Given the description of an element on the screen output the (x, y) to click on. 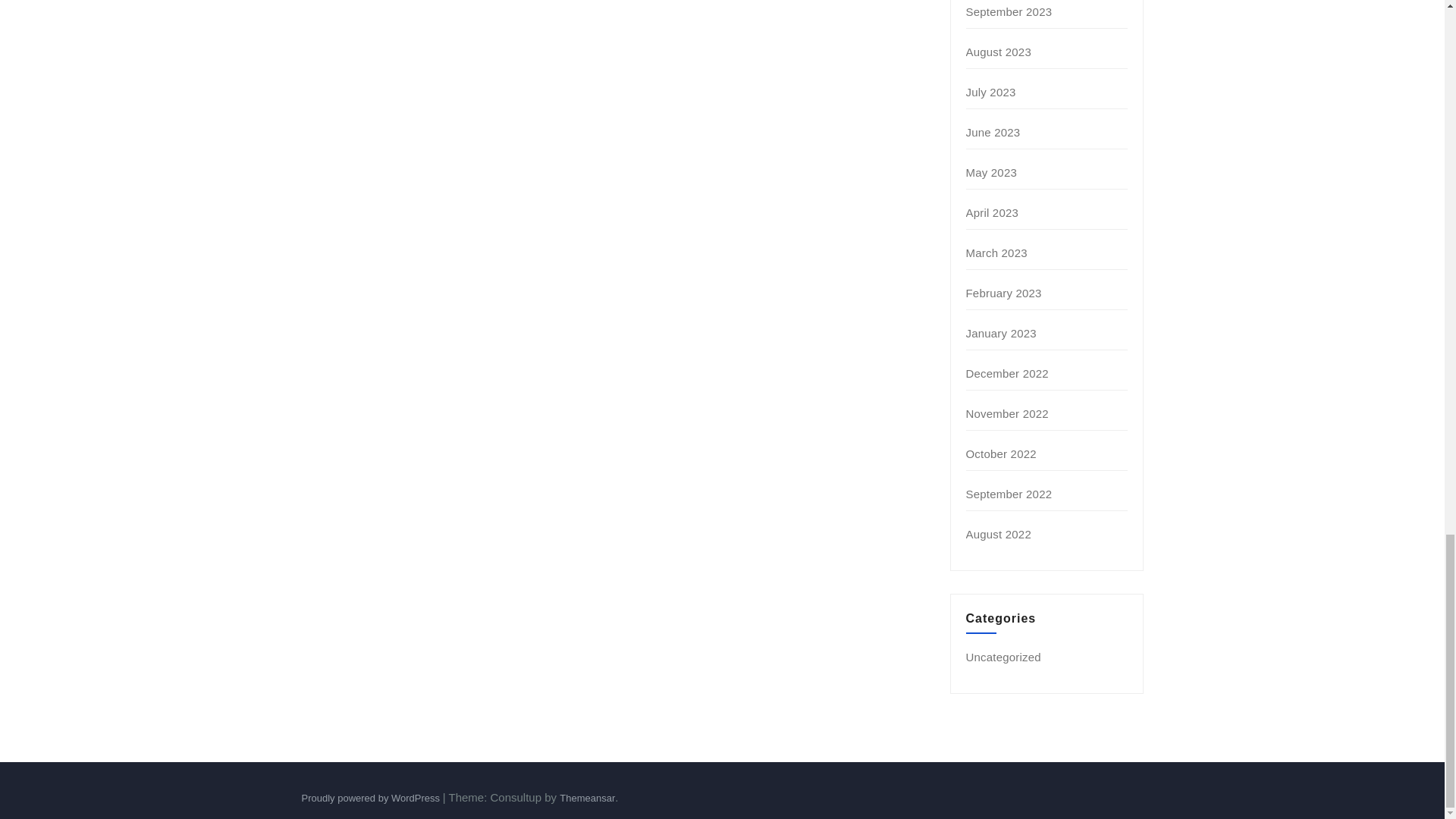
February 2023 (1004, 292)
January 2023 (1001, 332)
May 2023 (991, 172)
June 2023 (993, 132)
March 2023 (996, 252)
July 2023 (991, 91)
April 2023 (992, 212)
September 2023 (1009, 11)
August 2023 (998, 51)
